Given the description of an element on the screen output the (x, y) to click on. 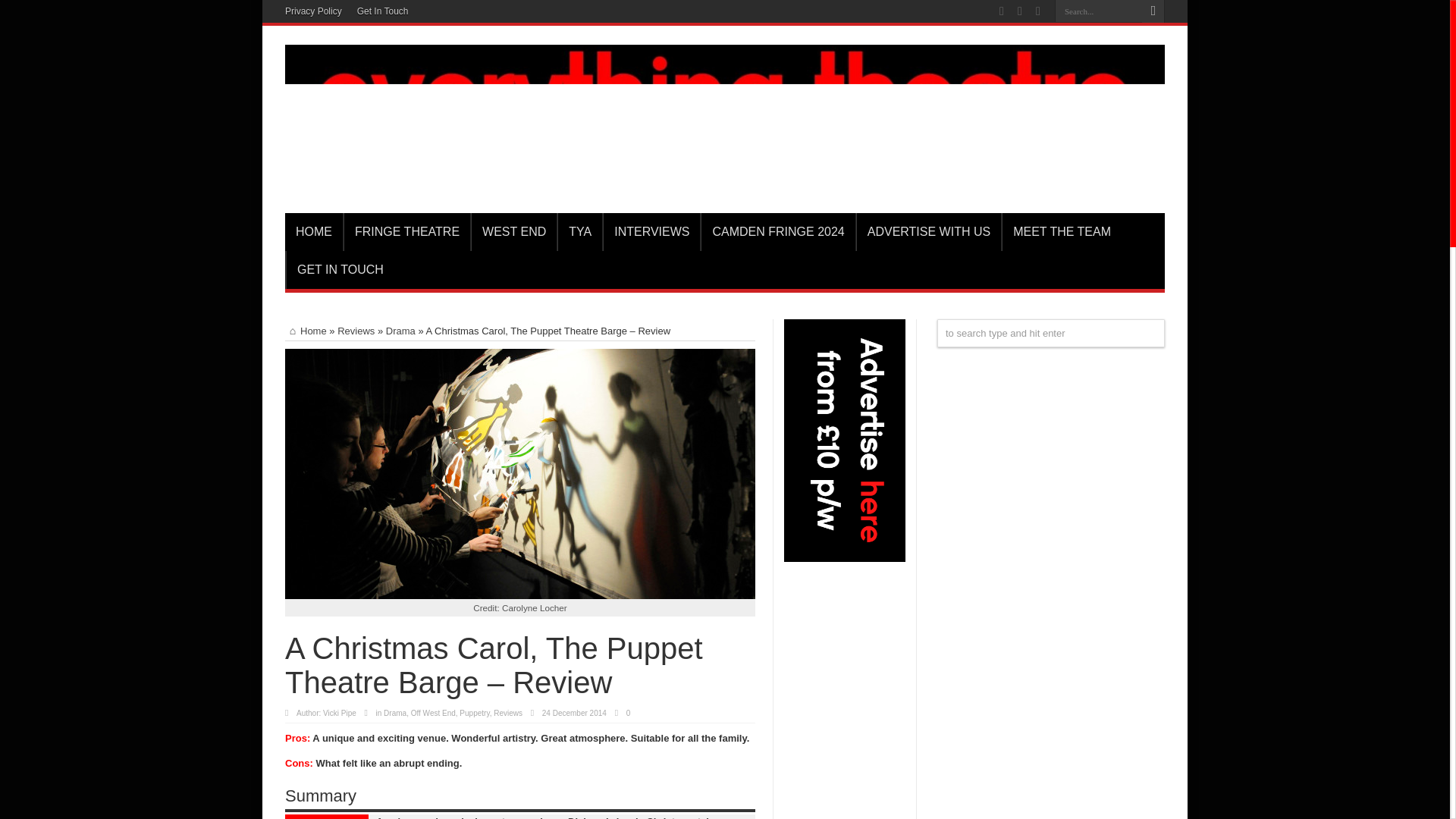
Drama (395, 713)
Search... (1097, 11)
Everything Theatre (724, 175)
Drama (399, 330)
Get In Touch (382, 11)
INTERVIEWS (651, 231)
Off West End (432, 713)
Reviews (507, 713)
Vicki Pipe (339, 713)
Home (305, 330)
Search (1152, 11)
ADVERTISE WITH US (928, 231)
Reviews (355, 330)
FRINGE THEATRE (406, 231)
Puppetry (474, 713)
